Given the description of an element on the screen output the (x, y) to click on. 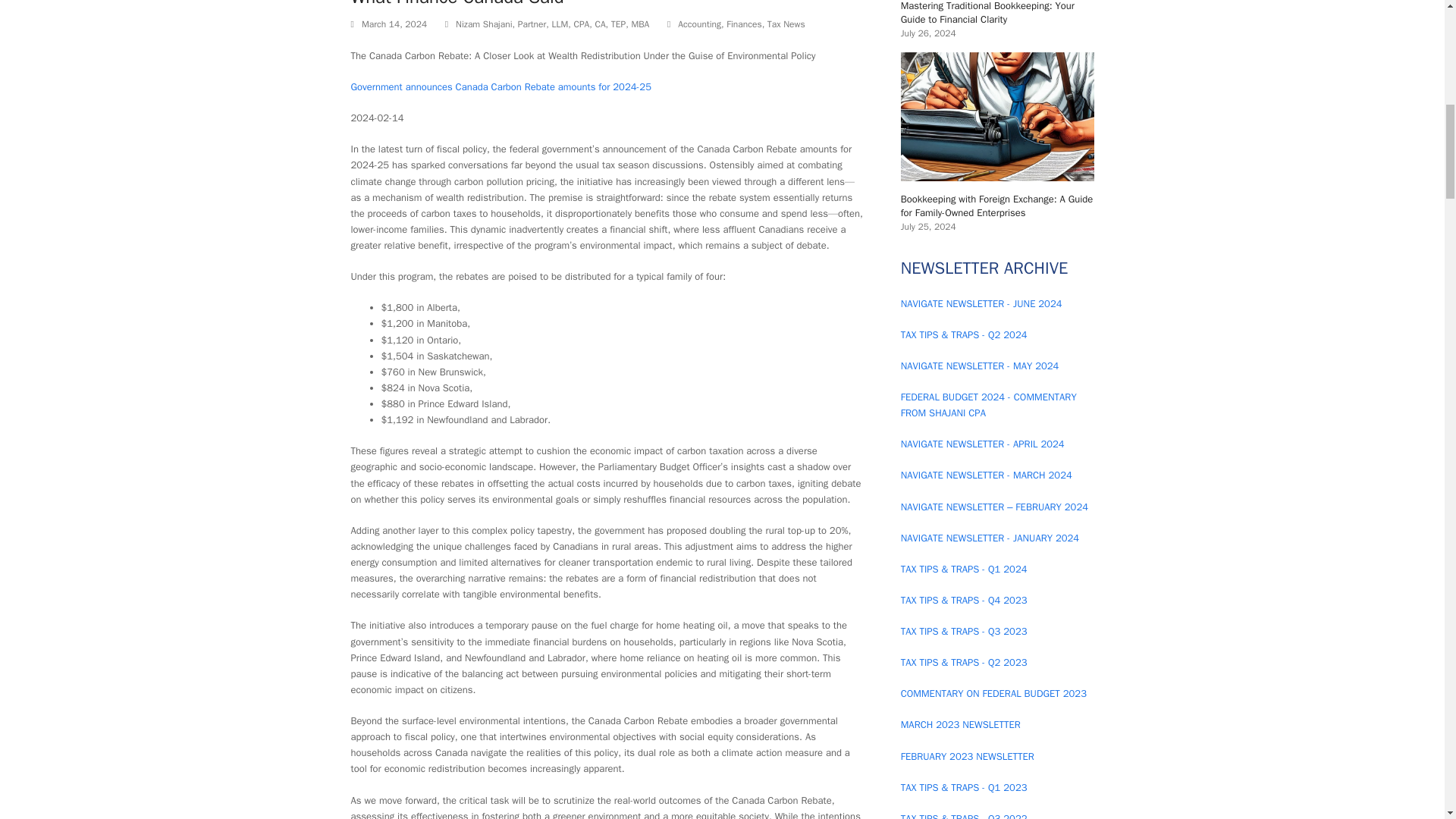
Posts by Nizam Shajani, Partner, LLM, CPA, CA, TEP, MBA (552, 24)
